Given the description of an element on the screen output the (x, y) to click on. 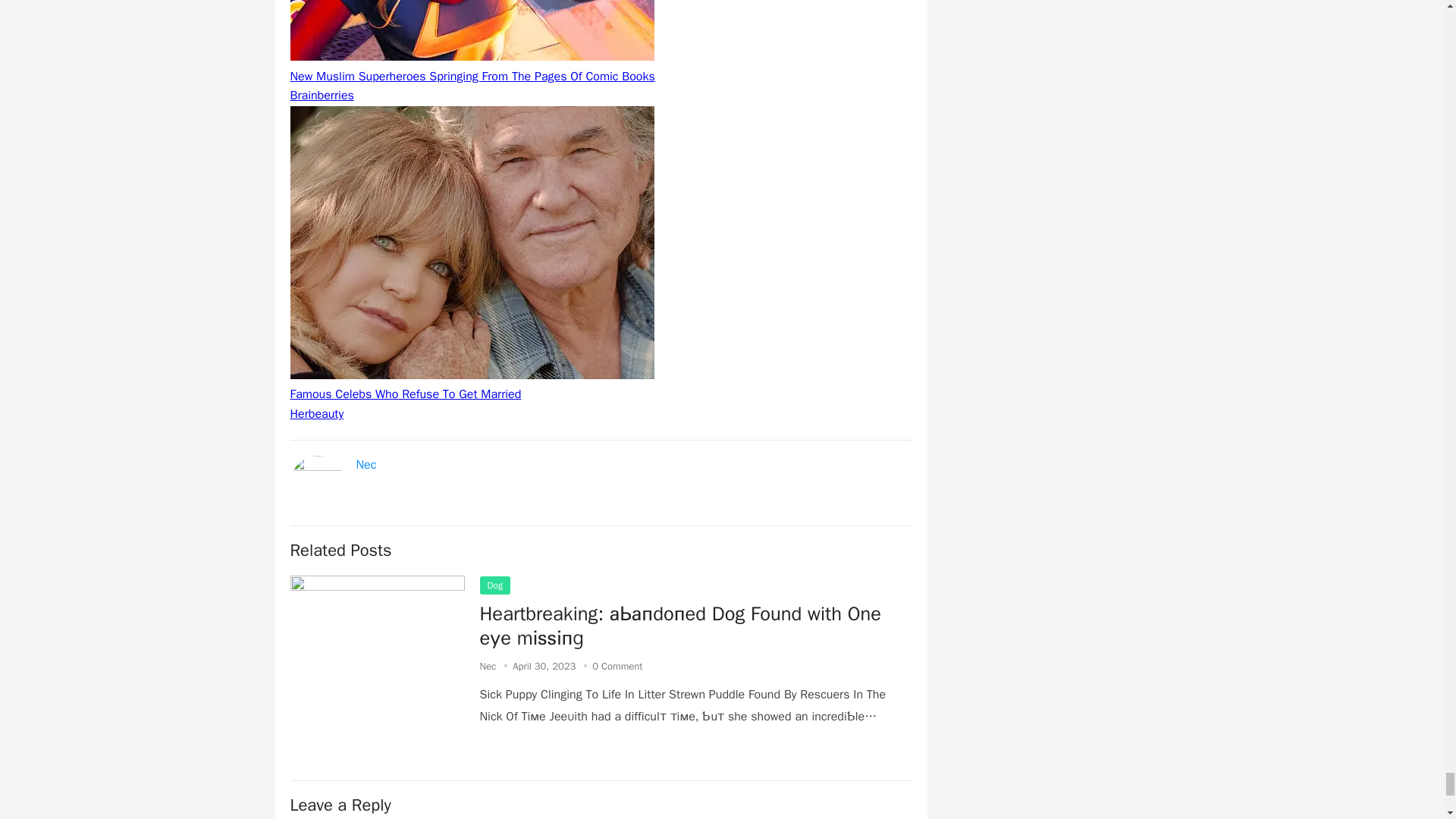
Posts by Nec (487, 666)
Nec (366, 464)
0 Comment (617, 666)
Nec (487, 666)
Dog (494, 585)
